Given the description of an element on the screen output the (x, y) to click on. 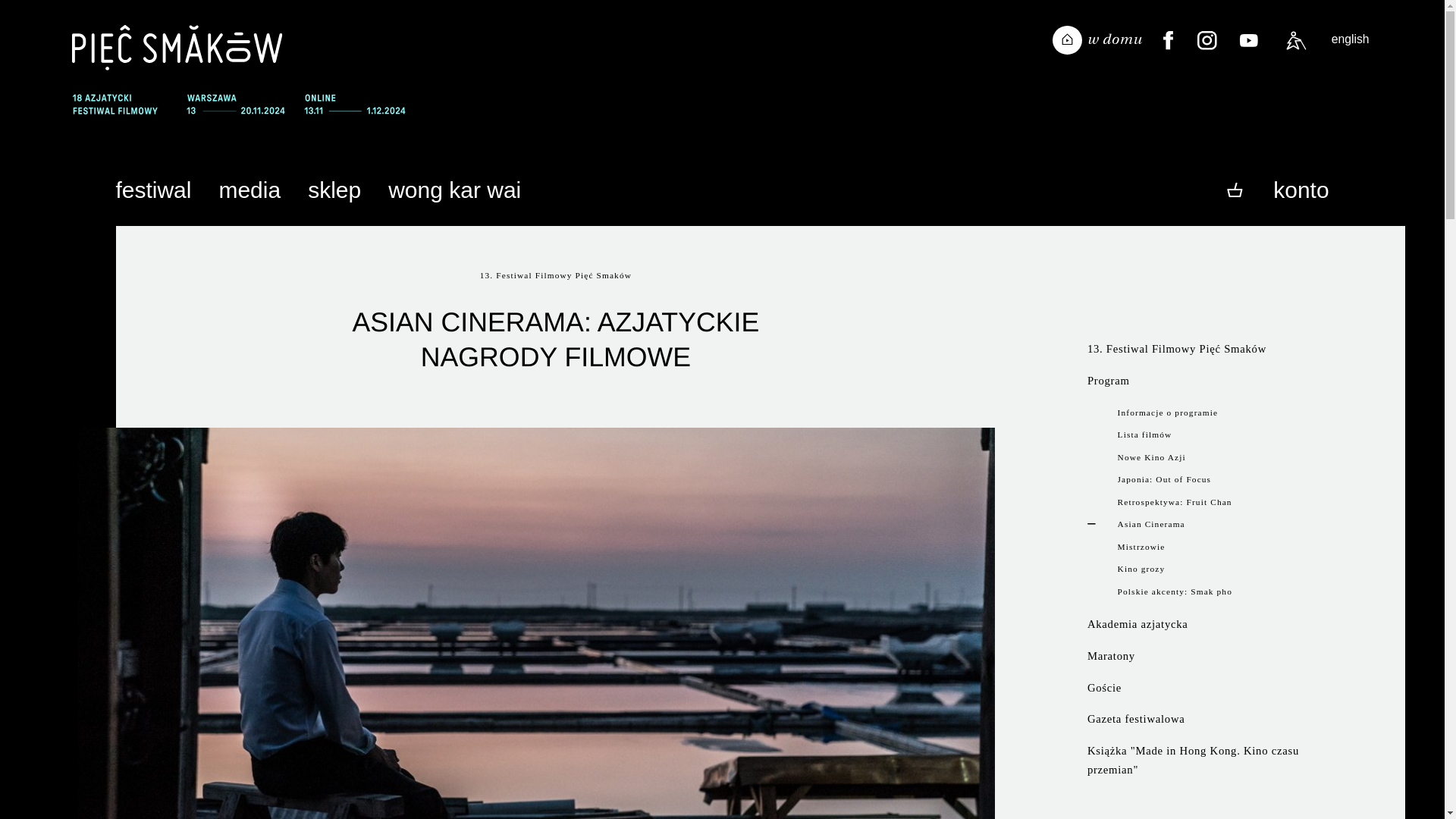
Profil na Instagramie (1207, 40)
festiwal (152, 191)
english (1351, 39)
